Given the description of an element on the screen output the (x, y) to click on. 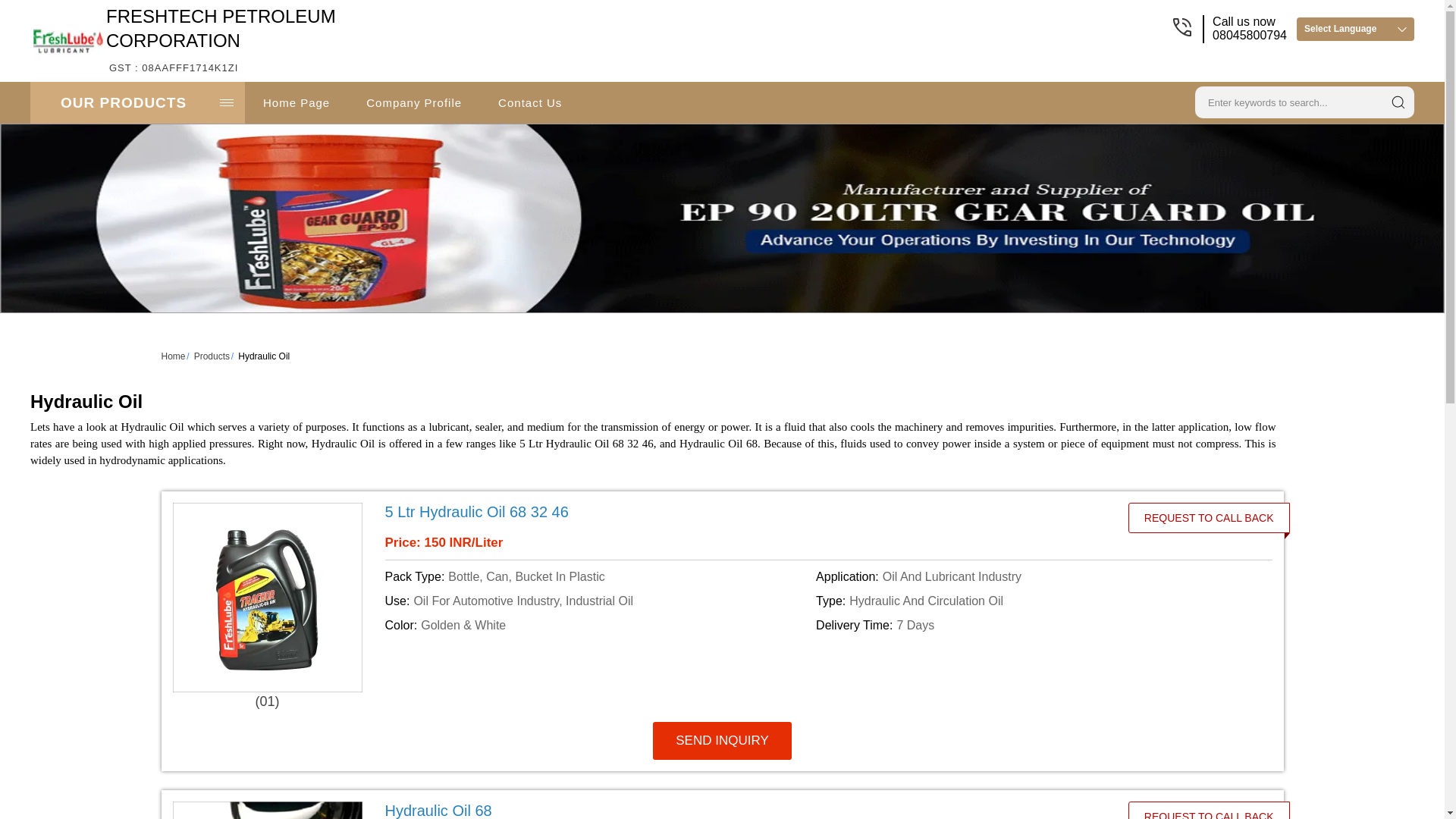
Delivery Time: 7 Days (1028, 625)
Select Language (1355, 28)
OUR PRODUCTS (137, 102)
Use: Oil For Automotive Industry, Industrial Oil (597, 601)
Hydraulic Oil 68 (739, 810)
Type: Hydraulic And Circulation Oil (1028, 601)
submit (1398, 102)
Pack Type: Bottle, Can, Bucket In Plastic (597, 577)
Enter keywords to search... (1286, 100)
Application: Oil And Lubricant Industry (1028, 577)
submit (1398, 102)
5 Ltr Hydraulic Oil  68 32 46 (221, 40)
